Given the description of an element on the screen output the (x, y) to click on. 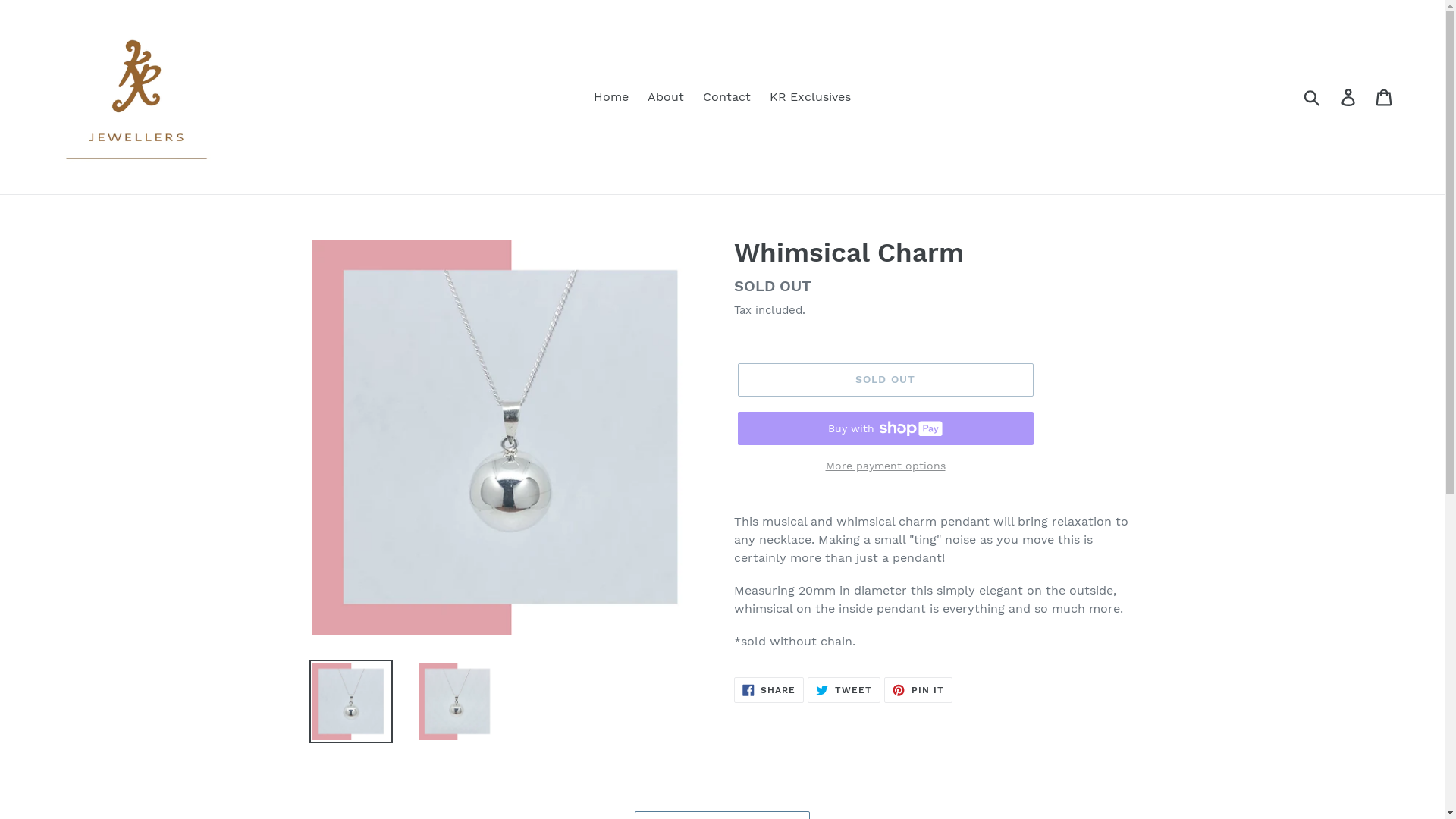
SOLD OUT Element type: text (884, 379)
SHARE
SHARE ON FACEBOOK Element type: text (769, 689)
About Element type: text (665, 96)
PIN IT
PIN ON PINTEREST Element type: text (918, 689)
Log in Element type: text (1349, 97)
Contact Element type: text (726, 96)
KR Exclusives Element type: text (810, 96)
Submit Element type: text (1312, 96)
Home Element type: text (611, 96)
Cart Element type: text (1384, 97)
TWEET
TWEET ON TWITTER Element type: text (843, 689)
More payment options Element type: text (884, 465)
